Given the description of an element on the screen output the (x, y) to click on. 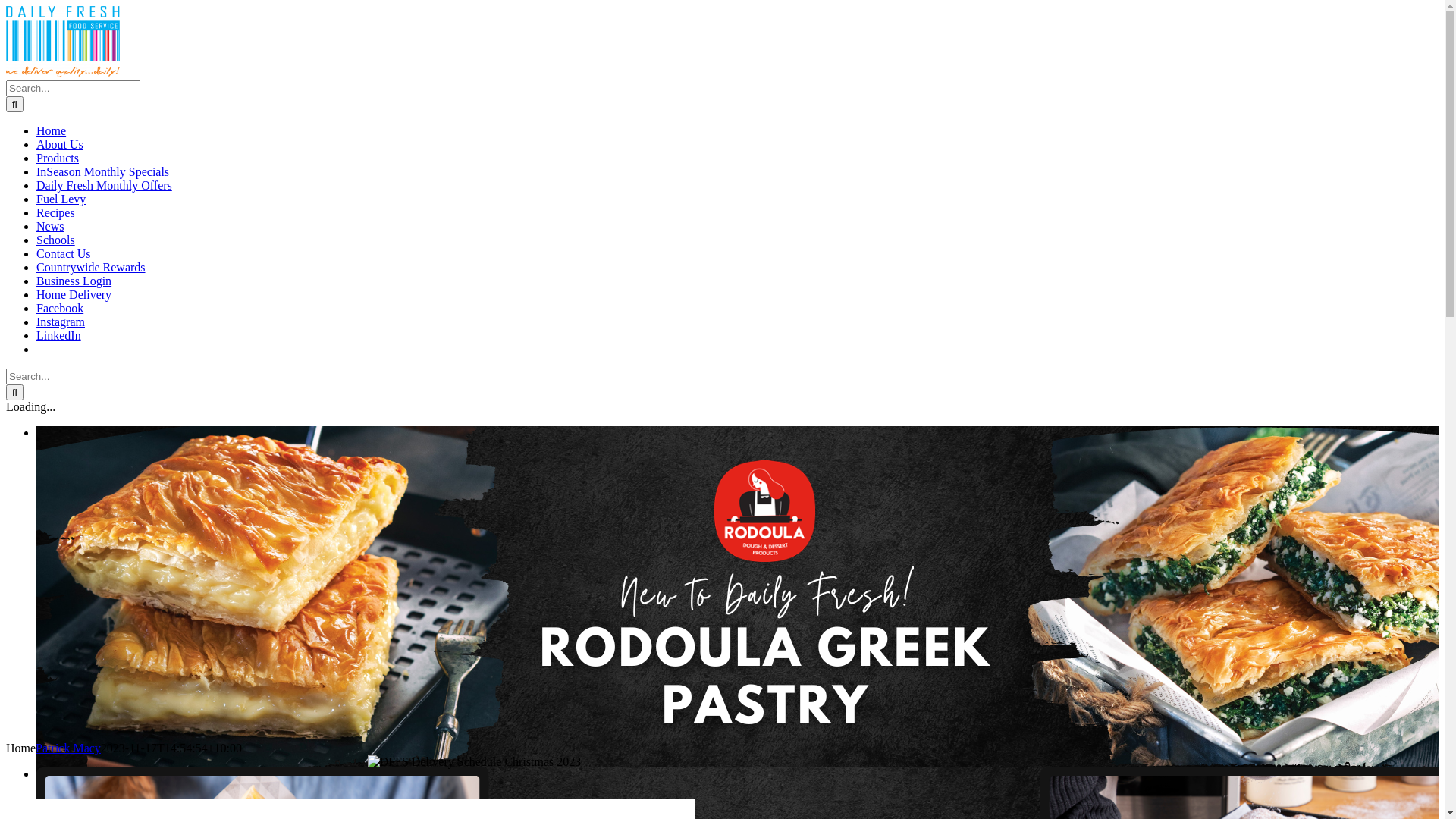
News Element type: text (49, 225)
Recipes Element type: text (55, 212)
Patrick Macy Element type: text (67, 747)
Contact Us Element type: text (63, 253)
Home Element type: text (50, 130)
Fuel Levy Element type: text (60, 198)
Daily Fresh Monthly Offers Element type: text (104, 184)
Home Delivery Element type: text (73, 294)
InSeason Monthly Specials Element type: text (102, 171)
Facebook Element type: text (59, 307)
Schools Element type: text (55, 239)
Skip to content Element type: text (5, 5)
LinkedIn Element type: text (58, 335)
About Us Element type: text (59, 144)
Products Element type: text (57, 157)
DFFS-Delivery-Schedule-Christmas-2023 Element type: hover (474, 761)
Instagram Element type: text (60, 321)
Countrywide Rewards Element type: text (90, 266)
Business Login Element type: text (73, 280)
